Given the description of an element on the screen output the (x, y) to click on. 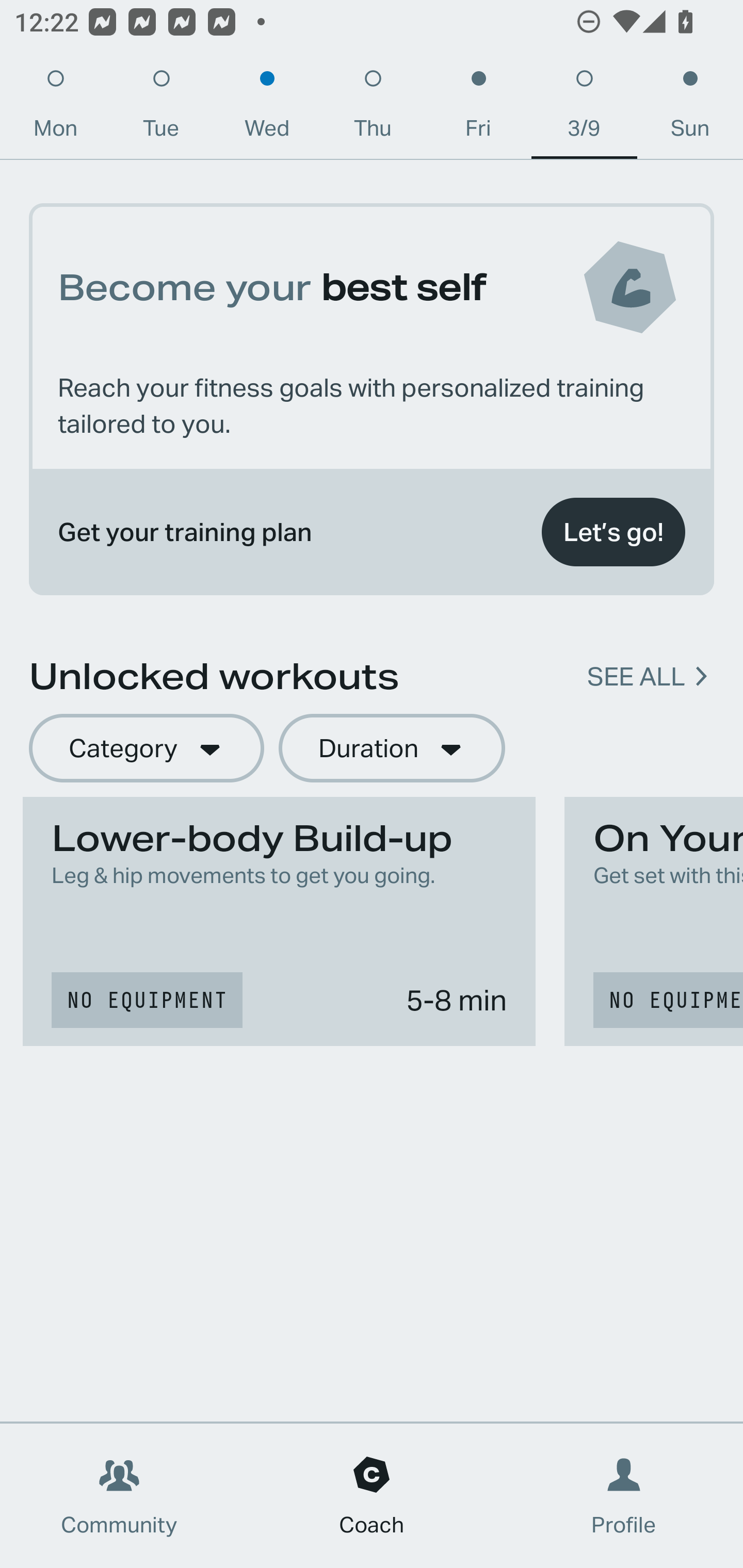
Mon (55, 108)
Tue (160, 108)
Wed (266, 108)
Thu (372, 108)
Fri (478, 108)
3/9 (584, 108)
Sun (690, 108)
Let’s go! (613, 532)
SEE ALL (635, 676)
Category (146, 748)
Duration (391, 748)
Community (119, 1495)
Profile (624, 1495)
